Given the description of an element on the screen output the (x, y) to click on. 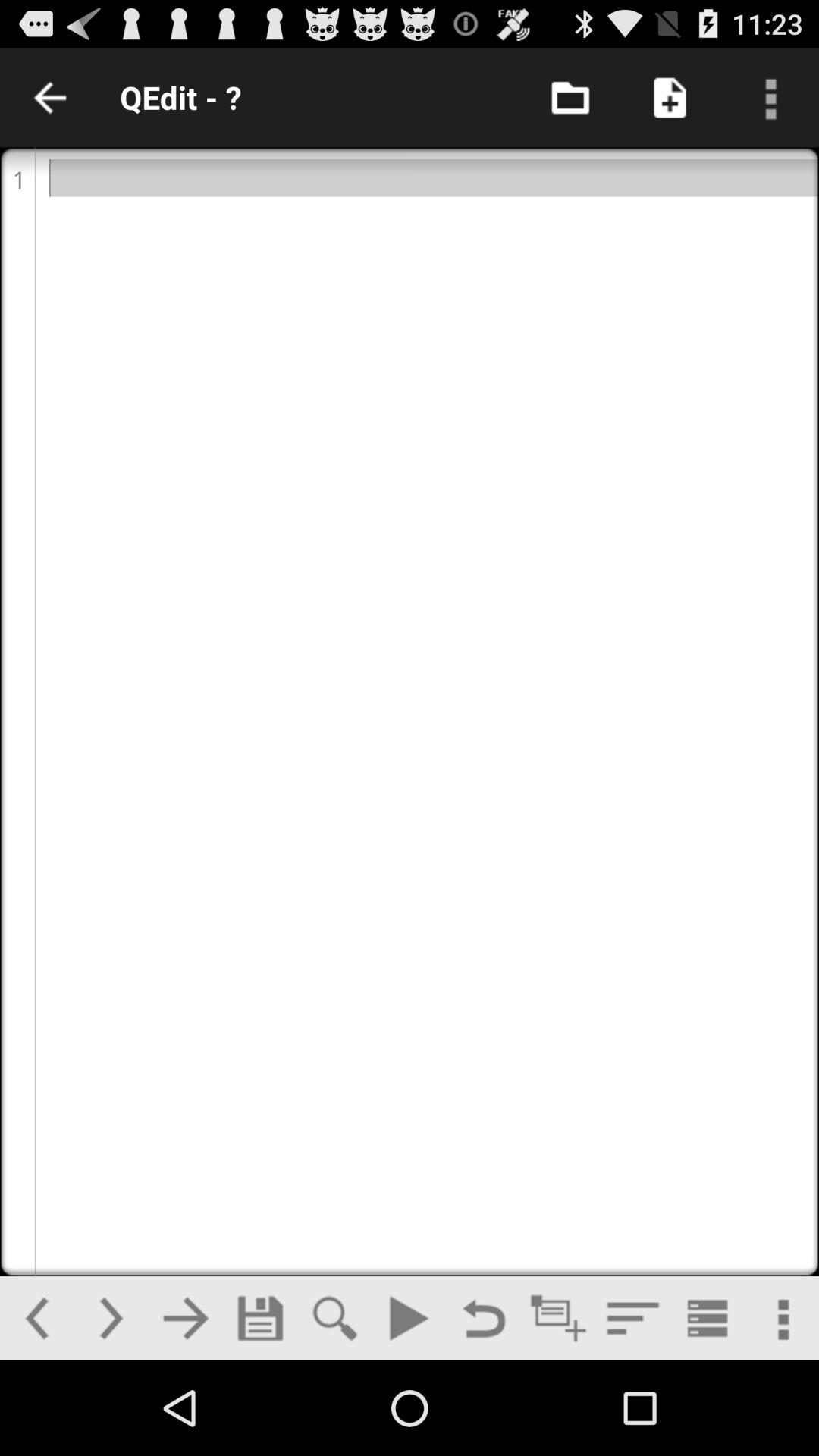
more options button (781, 1318)
